Given the description of an element on the screen output the (x, y) to click on. 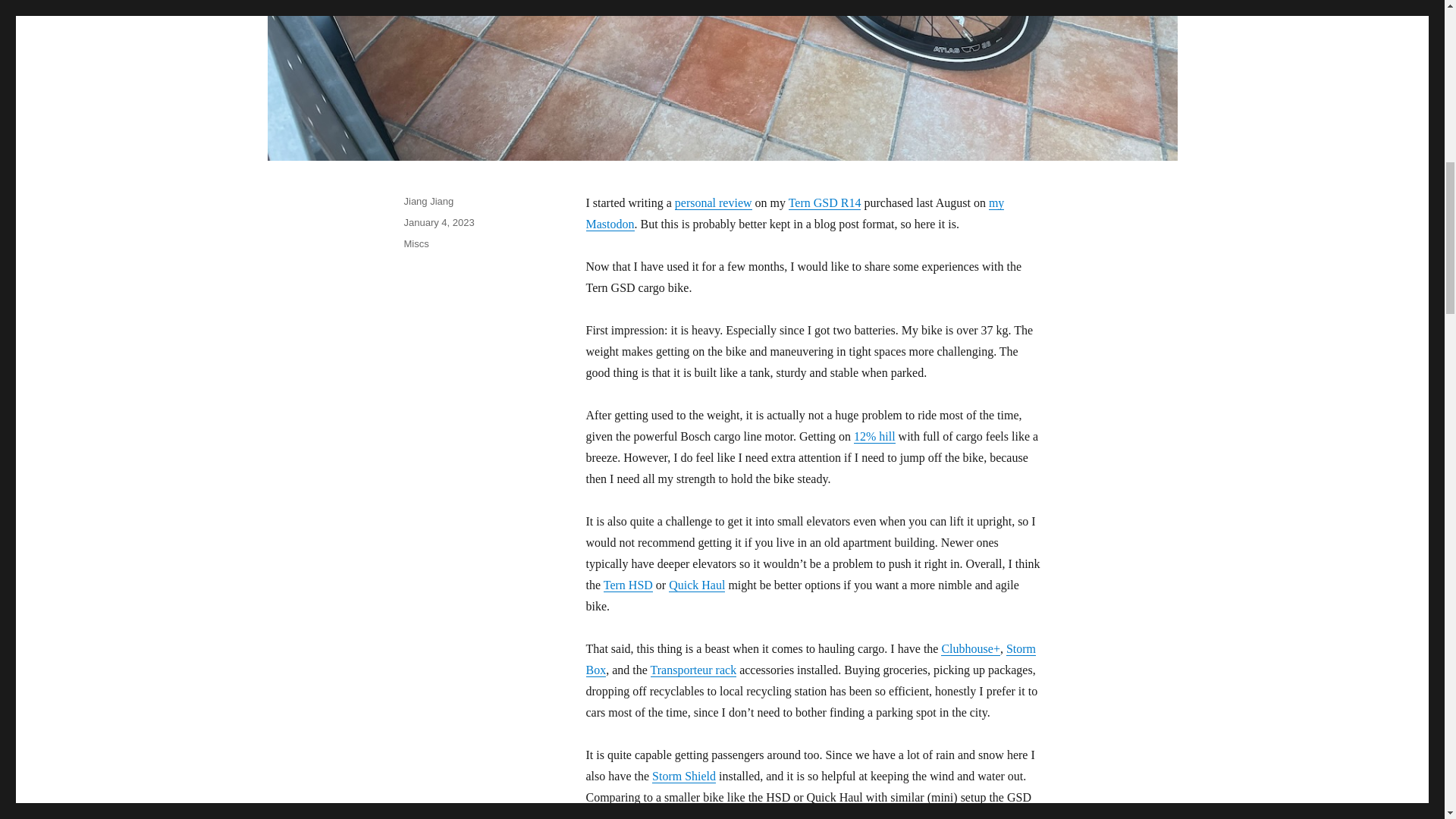
Jiang Jiang (427, 201)
Storm Shield (684, 775)
personal review (713, 202)
Quick Haul (696, 584)
Miscs (415, 243)
my Mastodon (794, 213)
Tern HSD (628, 584)
Storm Box (810, 659)
January 4, 2023 (438, 222)
Transporteur rack (693, 669)
Tern GSD R14 (825, 202)
